Given the description of an element on the screen output the (x, y) to click on. 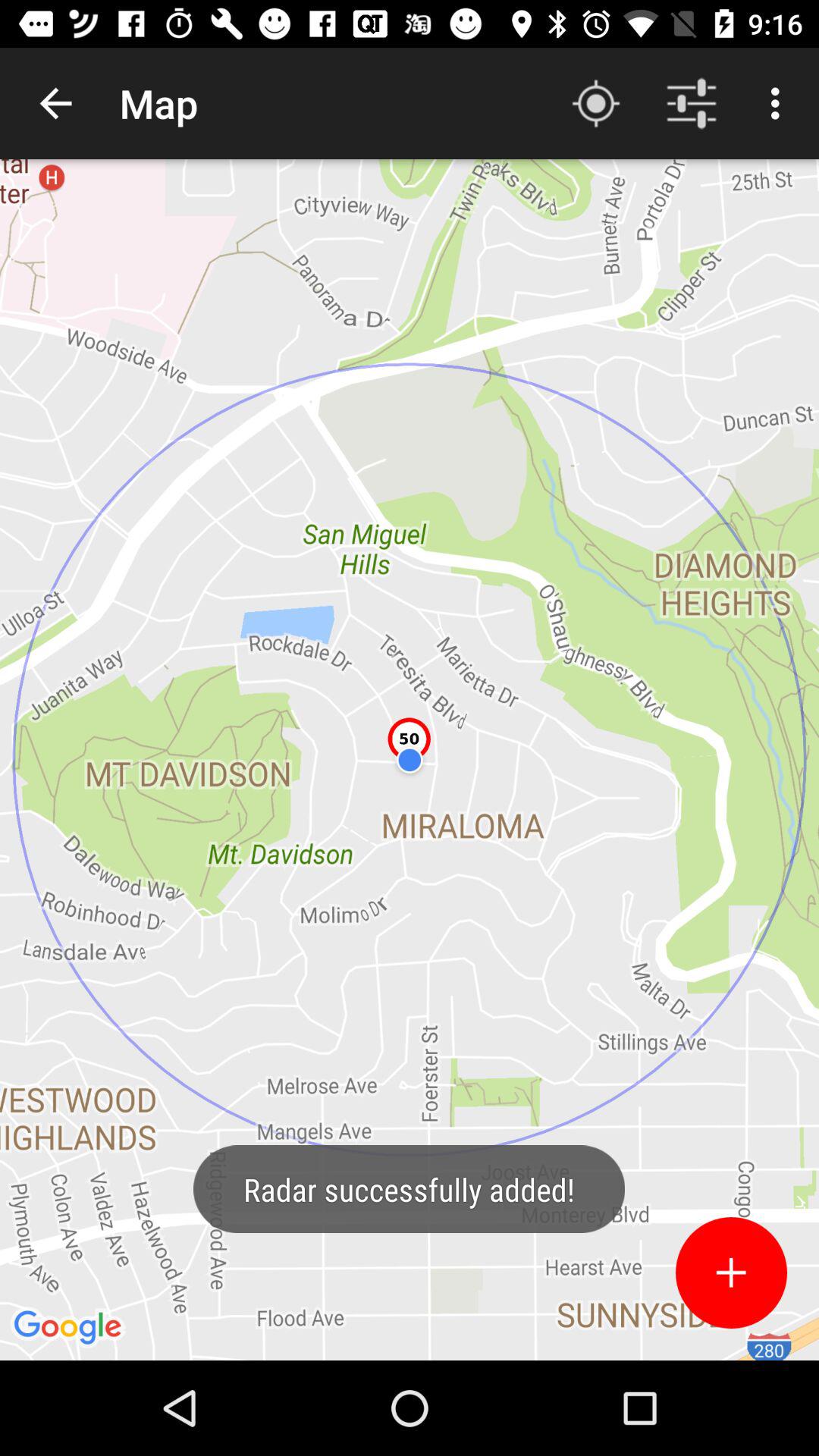
turn off icon to the left of map app (55, 103)
